Given the description of an element on the screen output the (x, y) to click on. 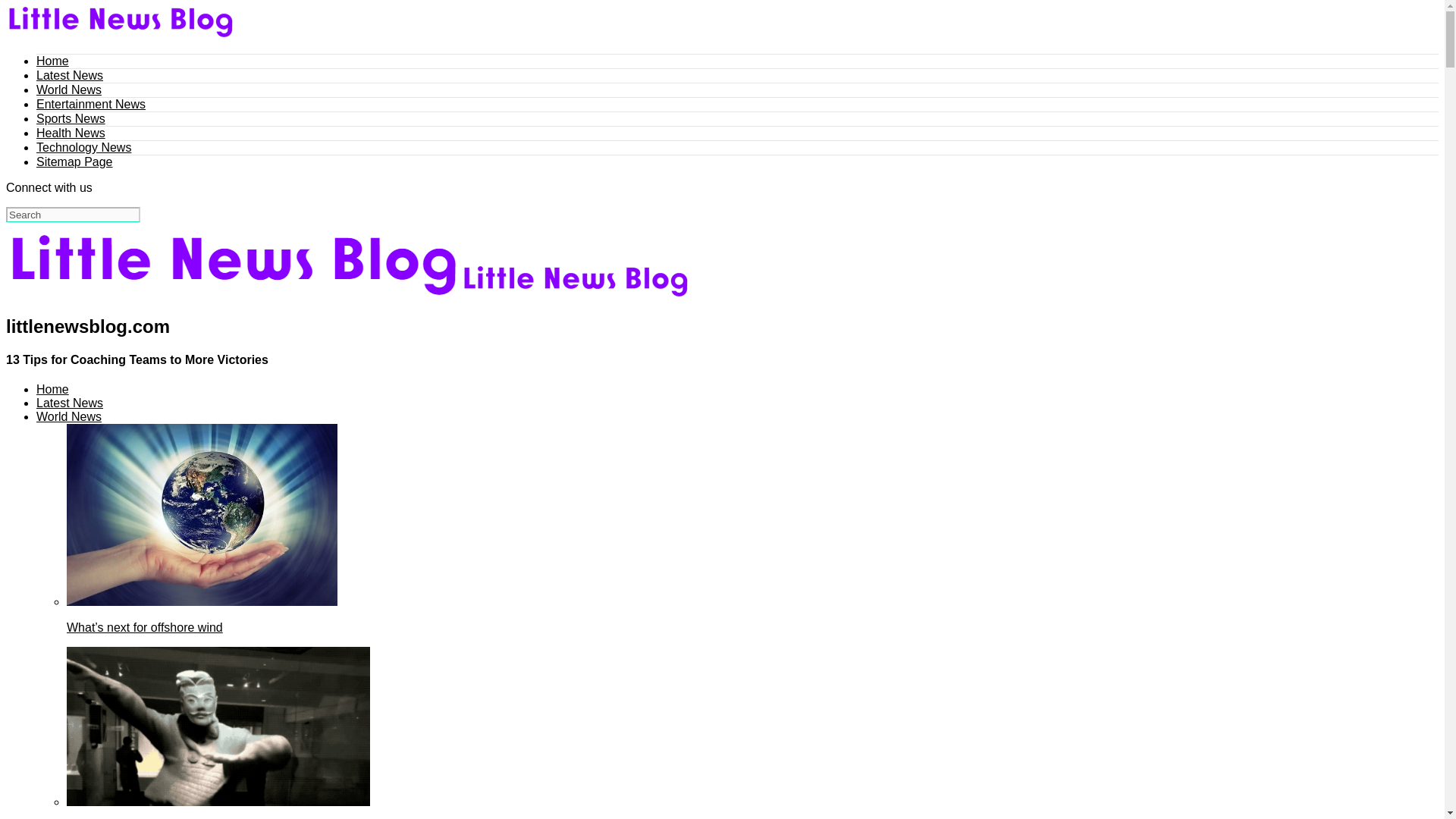
Latest News (69, 74)
Health News (70, 132)
Technology News (83, 146)
Latest News (69, 402)
Search (72, 214)
Home (52, 60)
World News (68, 416)
Sitemap Page (74, 161)
Home (52, 389)
World News (68, 89)
Sports News (70, 118)
Entertainment News (90, 103)
